Given the description of an element on the screen output the (x, y) to click on. 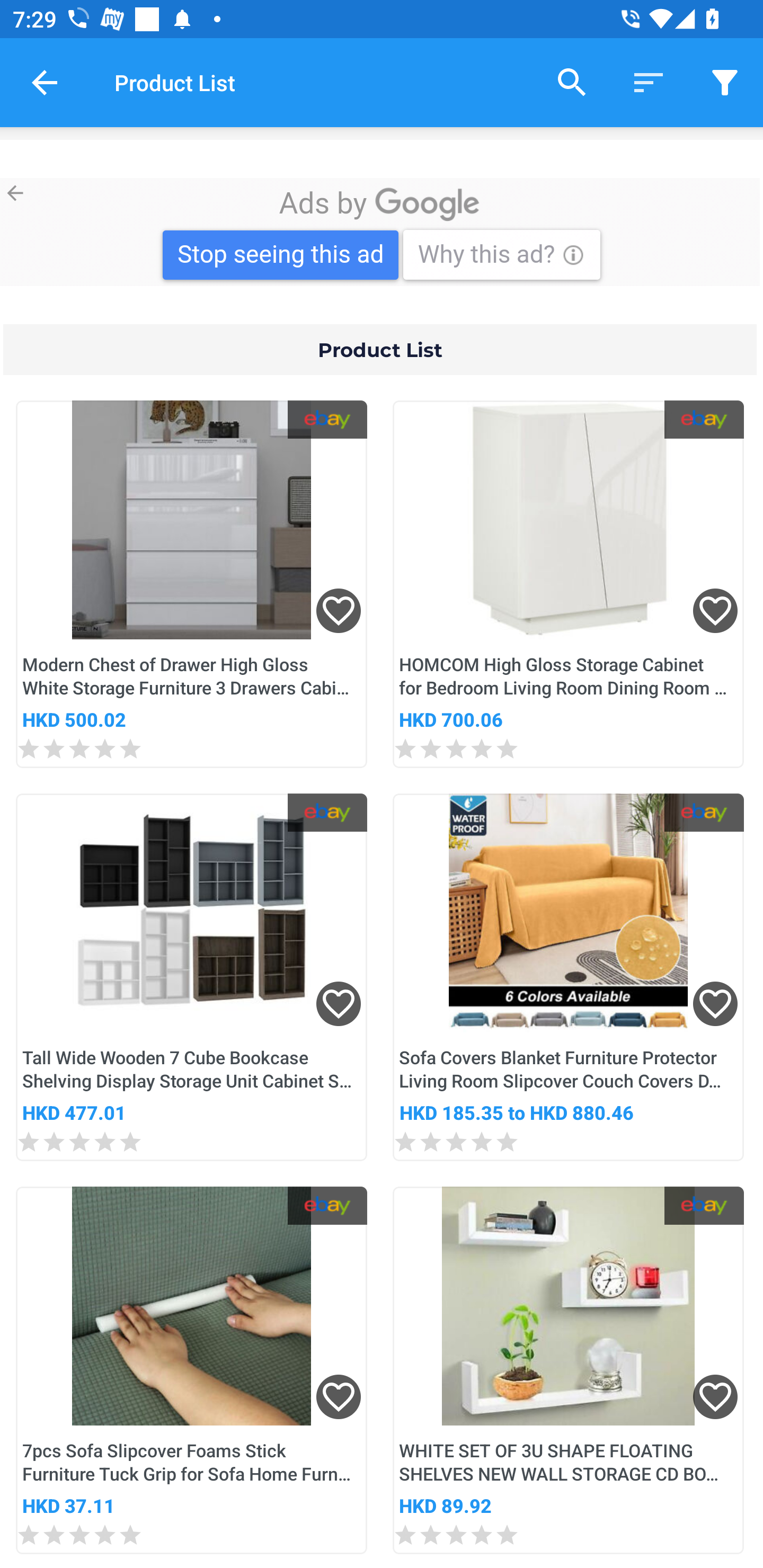
Navigate up (44, 82)
Search (572, 81)
short (648, 81)
short (724, 81)
